Given the description of an element on the screen output the (x, y) to click on. 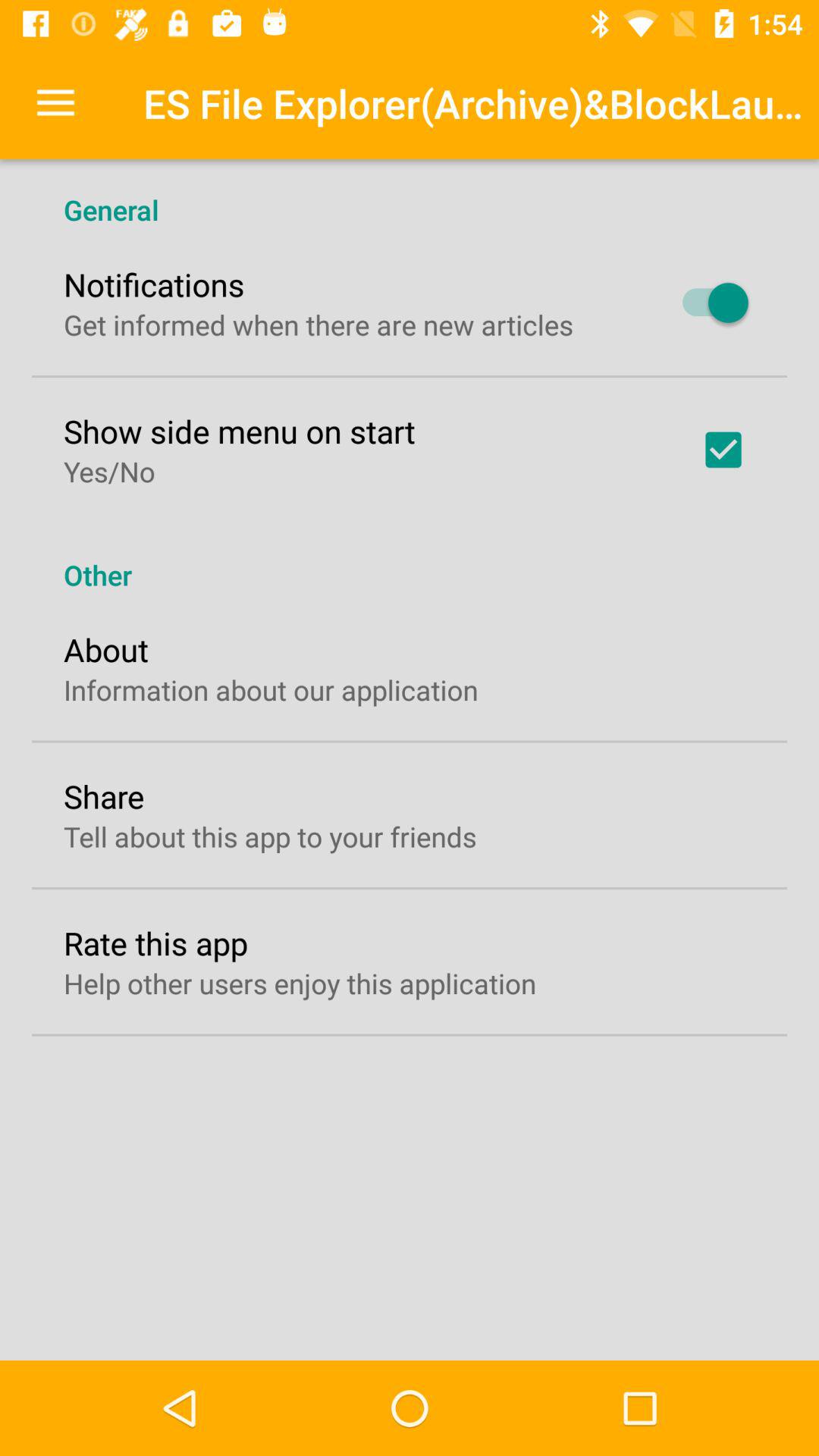
launch item above the general icon (55, 103)
